Given the description of an element on the screen output the (x, y) to click on. 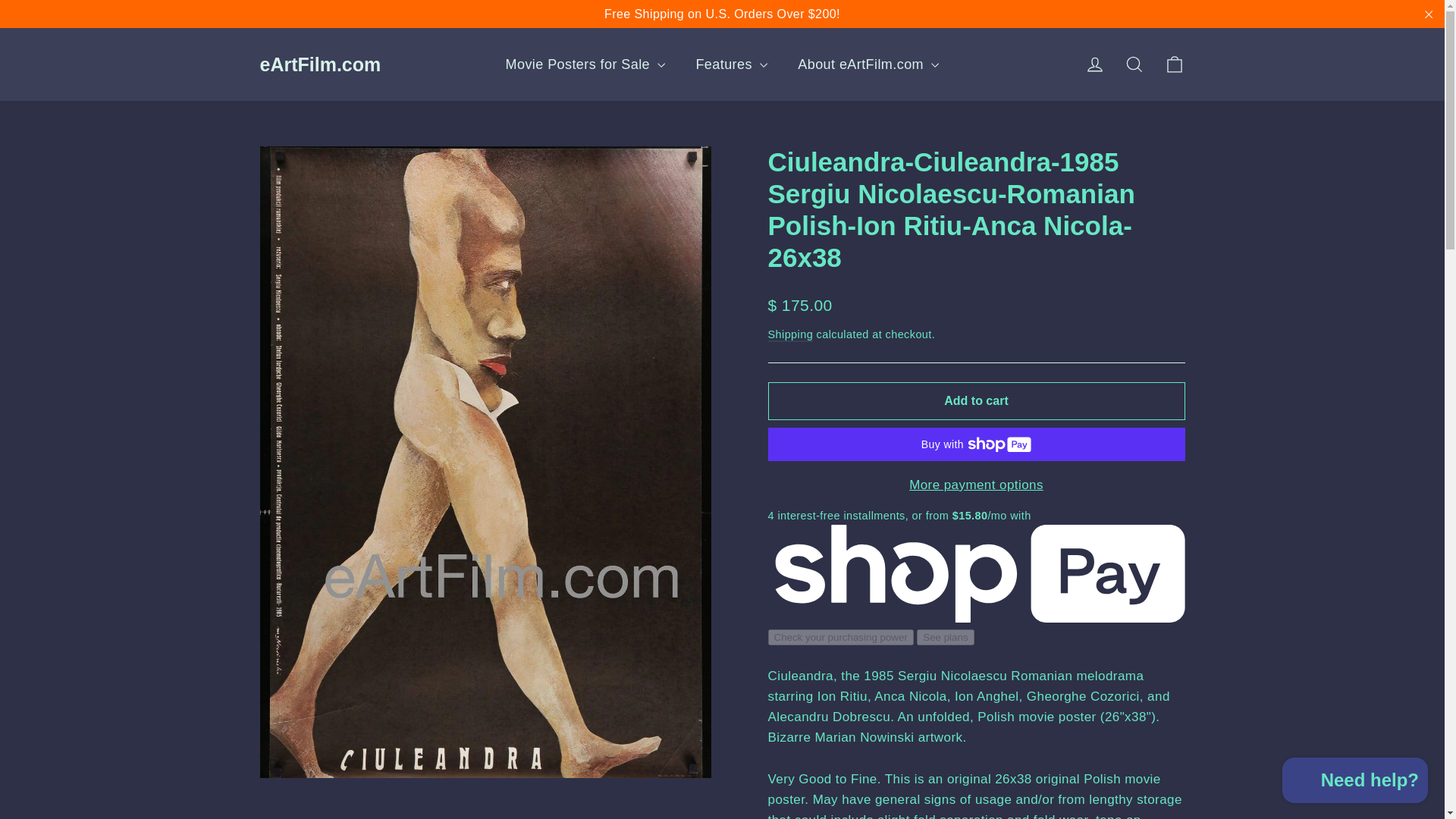
account (1094, 64)
eArtFilm.com (319, 64)
icon-X (1134, 63)
icon-bag-minimal (1429, 13)
Shopify online store chat (1174, 64)
icon-search (1355, 781)
